Given the description of an element on the screen output the (x, y) to click on. 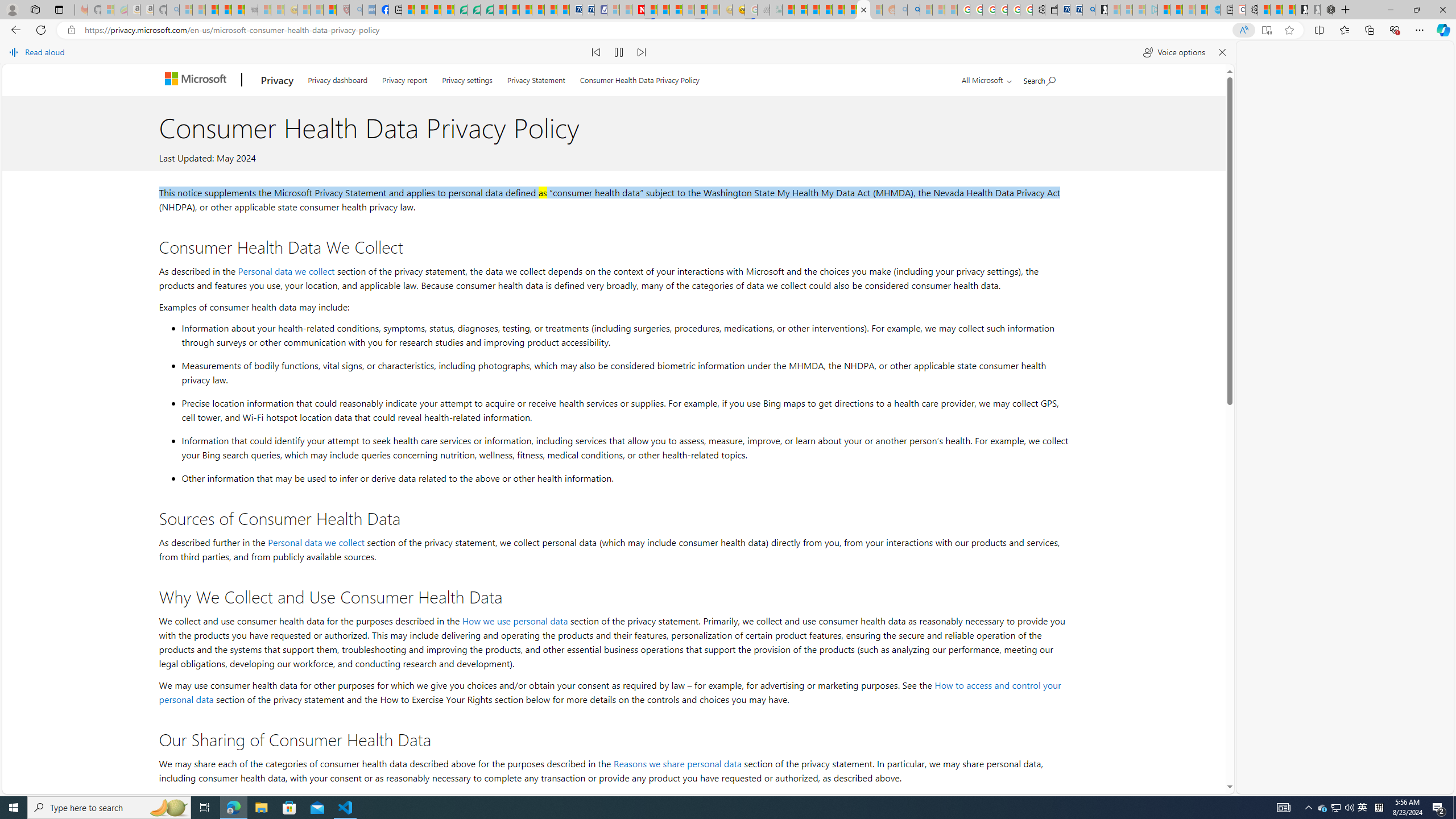
MSNBC - MSN (788, 9)
Bing Real Estate - Home sales and rental listings (1088, 9)
App bar (728, 29)
Play Free Online Games | Games from Microsoft Start (1301, 9)
